Given the description of an element on the screen output the (x, y) to click on. 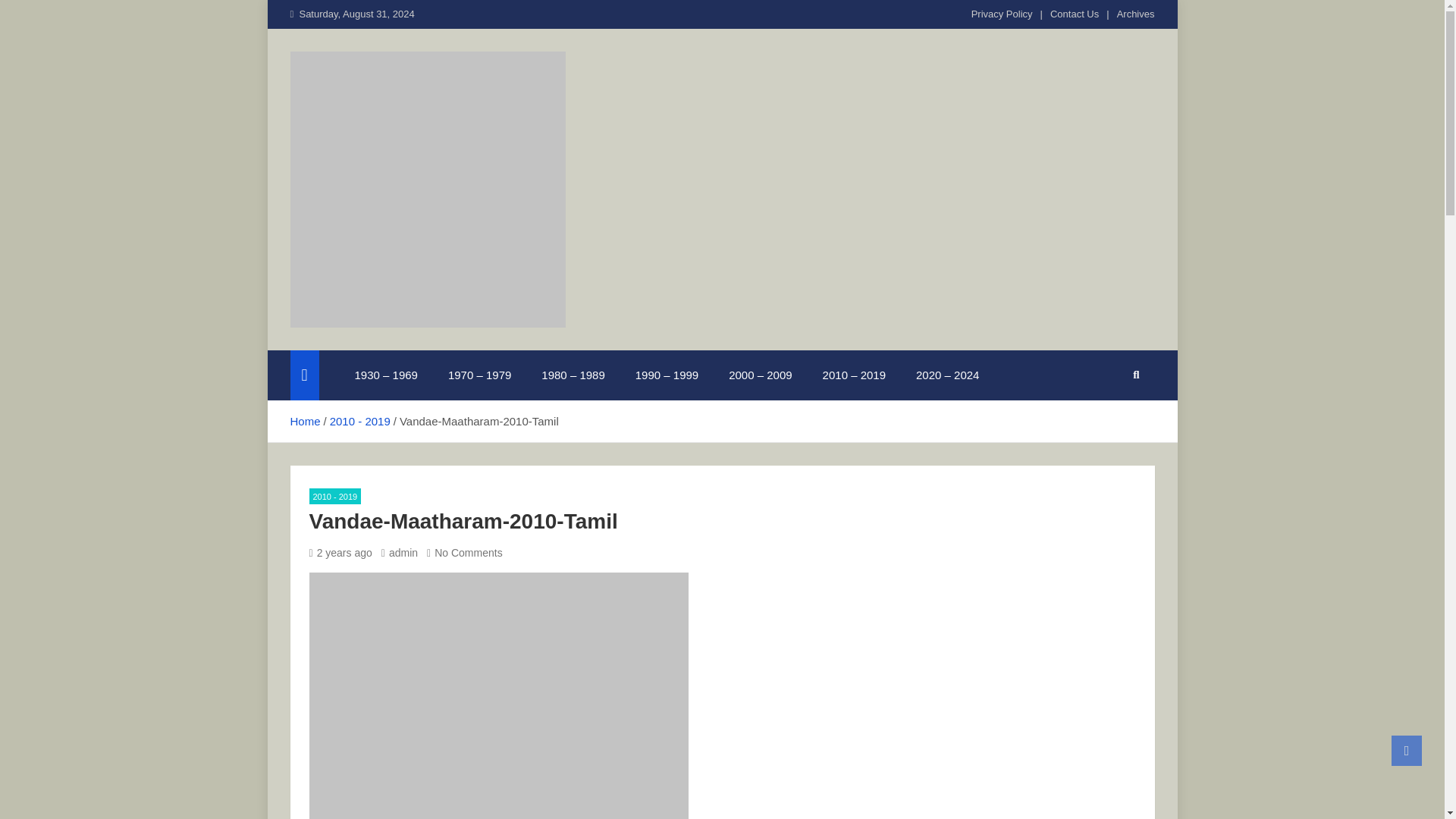
No Comments (464, 552)
Vandae-Maatharam-2010-Tamil (498, 695)
Go to Top (1406, 750)
Archives (1135, 13)
2010 - 2019 (334, 496)
admin (399, 552)
MaJaa.Mobi (375, 346)
Contact Us (1074, 13)
2 years ago (340, 552)
2010 - 2019 (360, 420)
